Given the description of an element on the screen output the (x, y) to click on. 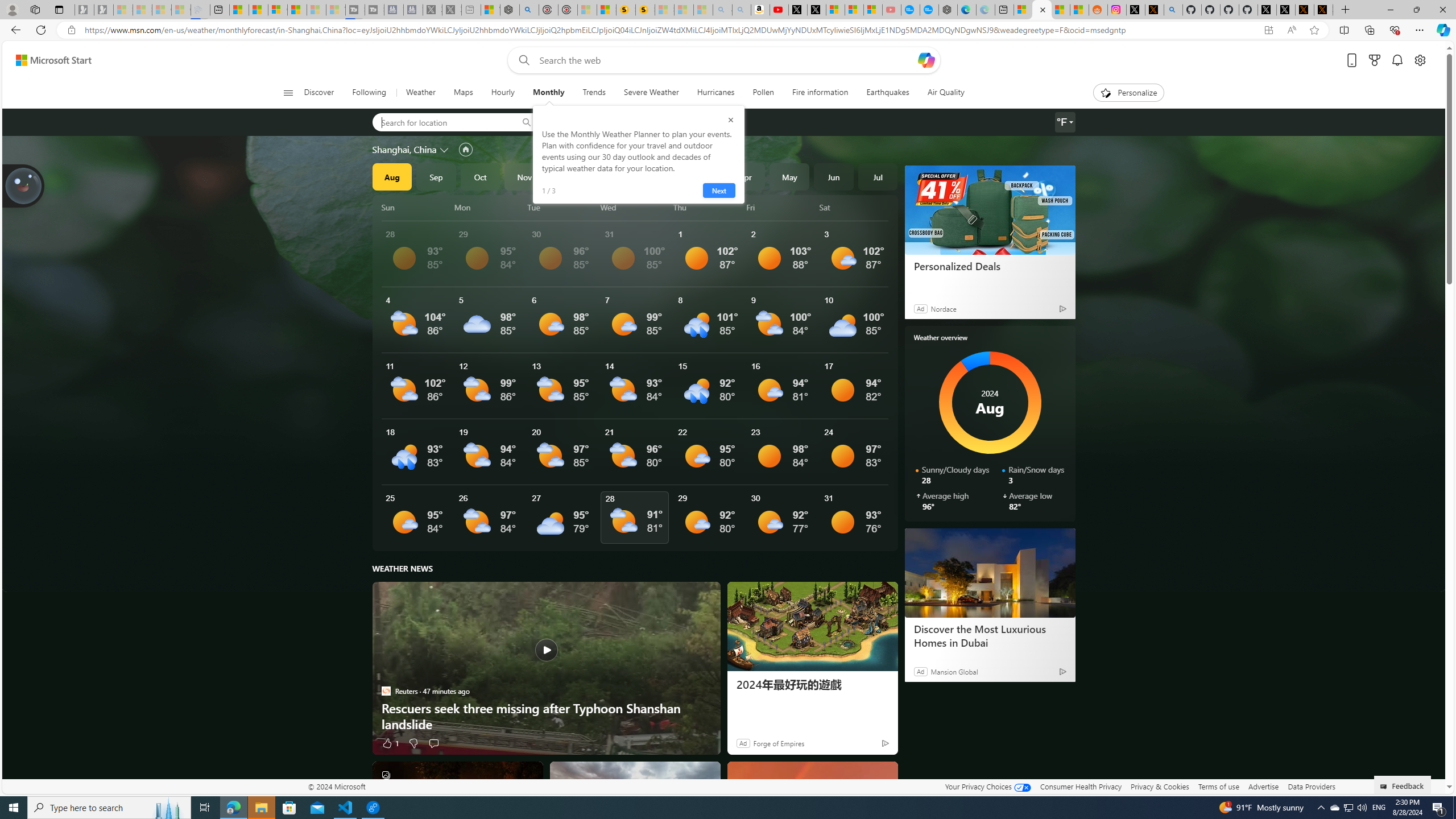
Next (718, 190)
Trends (593, 92)
Weather (420, 92)
Nordace - Nordace has arrived Hong Kong (947, 9)
Amazon Echo Dot PNG - Search Images - Sleeping (741, 9)
Advertise (1263, 786)
Jun (833, 176)
